Given the description of an element on the screen output the (x, y) to click on. 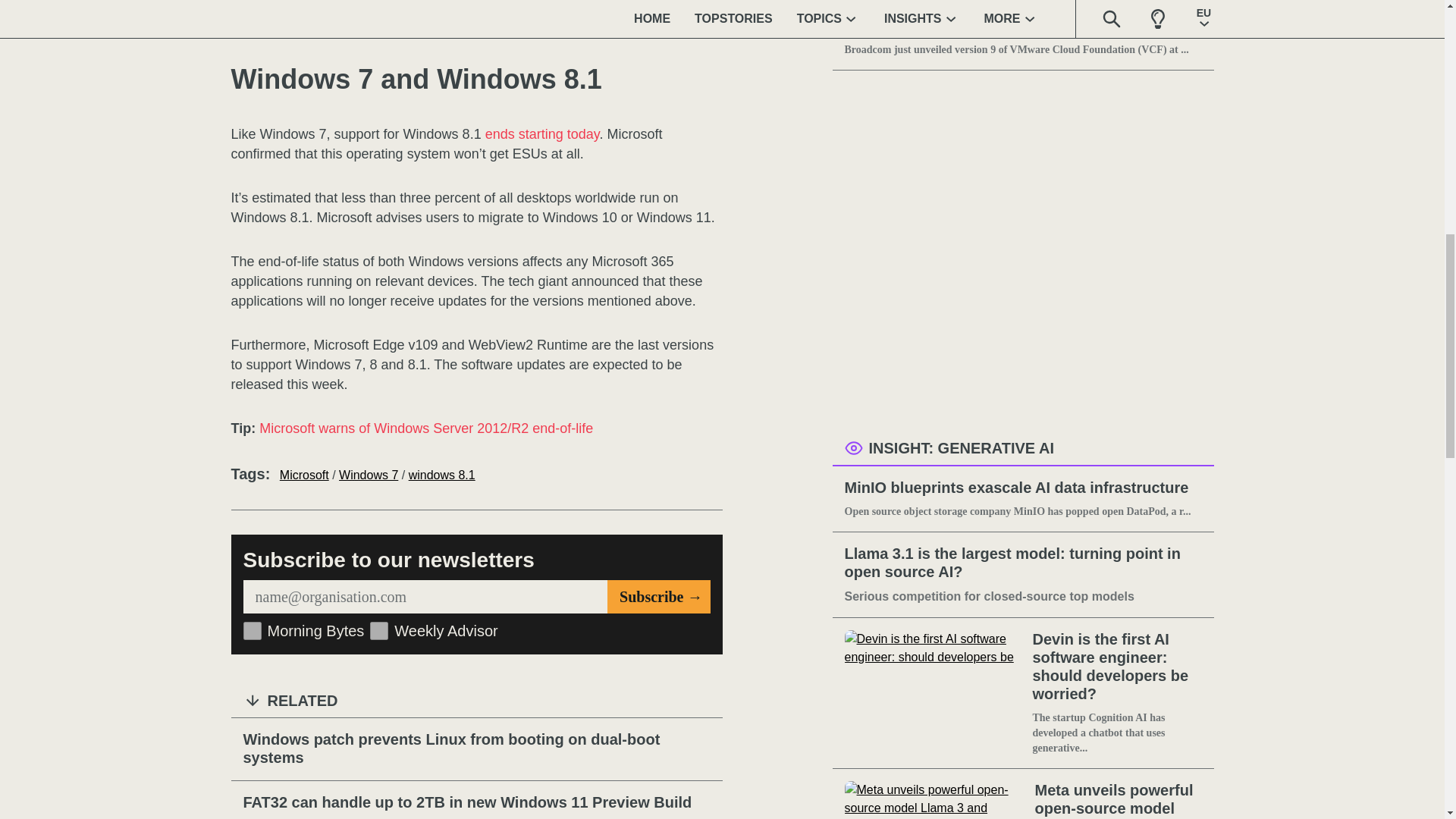
84623970802861205 (251, 630)
84623981521405447 (378, 630)
VCF 9 is a new beginning for VMware by Broadcom (1023, 18)
